Given the description of an element on the screen output the (x, y) to click on. 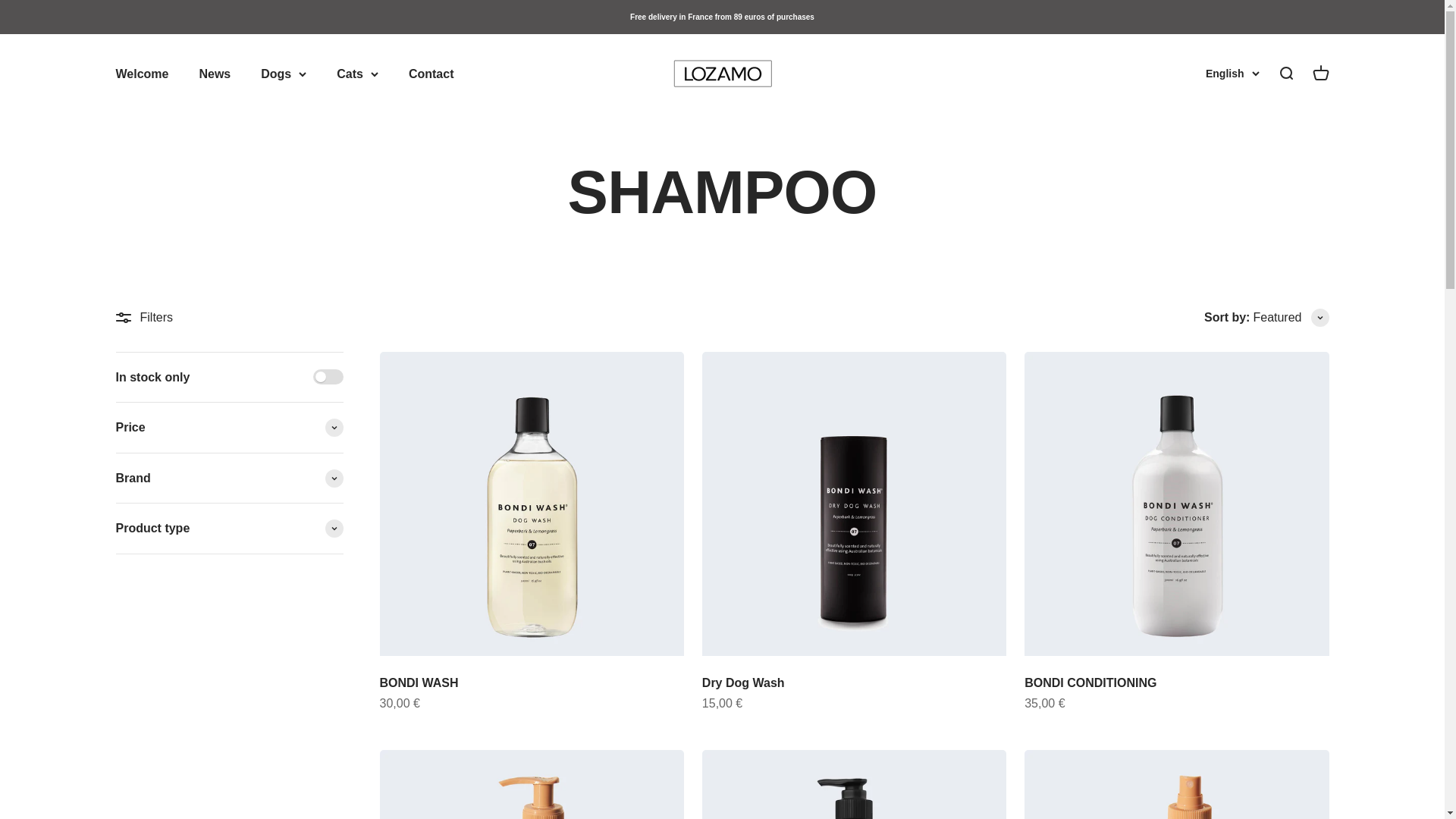
1 (327, 376)
News (228, 453)
Welcome (214, 73)
